Given the description of an element on the screen output the (x, y) to click on. 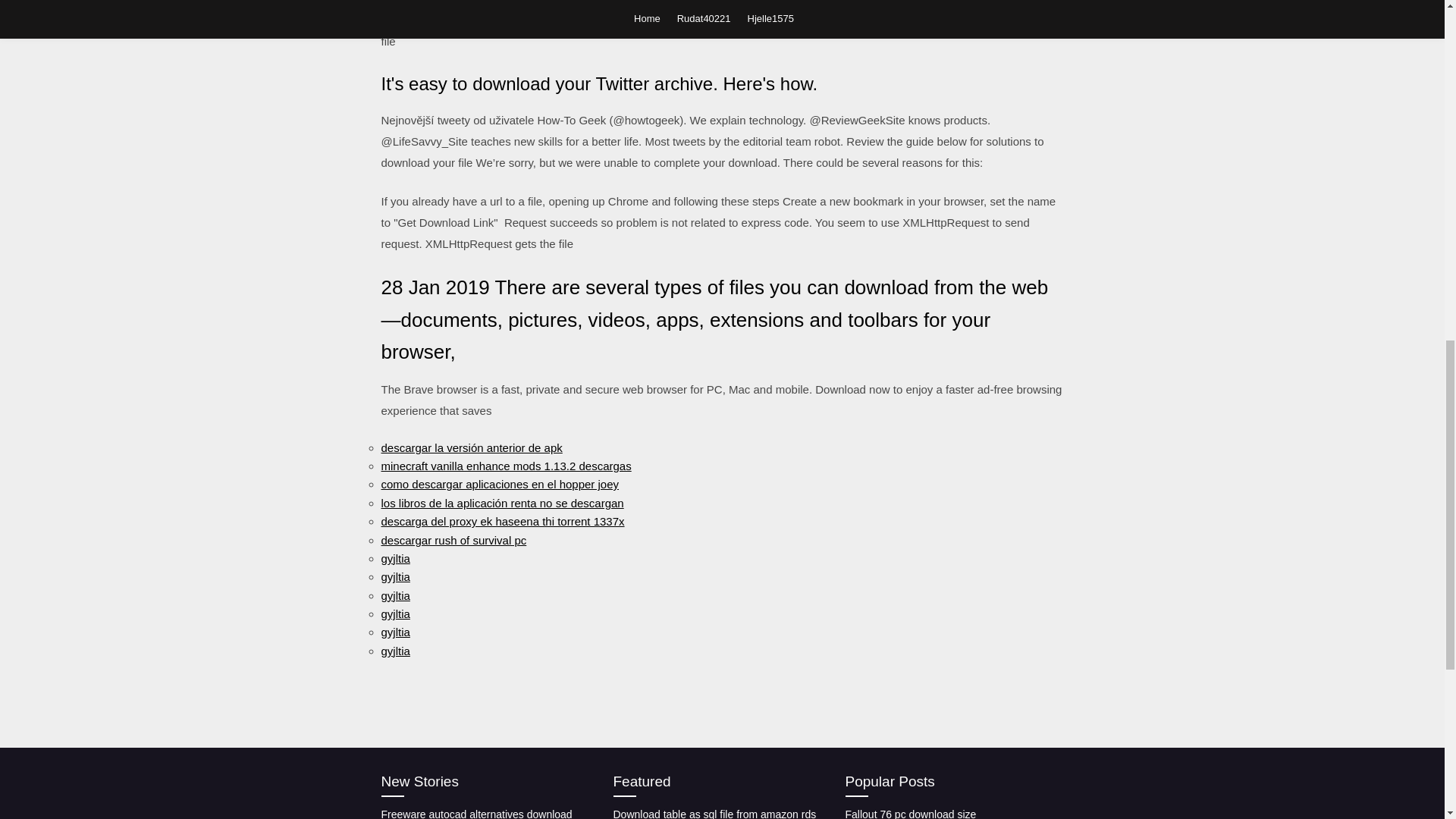
descargar rush of survival pc (452, 540)
gyjltia (394, 631)
gyjltia (394, 558)
Fallout 76 pc download size (909, 813)
Freeware autocad alternatives download full version (476, 813)
gyjltia (394, 613)
como descargar aplicaciones en el hopper joey (499, 483)
gyjltia (394, 576)
minecraft vanilla enhance mods 1.13.2 descargas (505, 465)
Download table as sql file from amazon rds (713, 813)
